Given the description of an element on the screen output the (x, y) to click on. 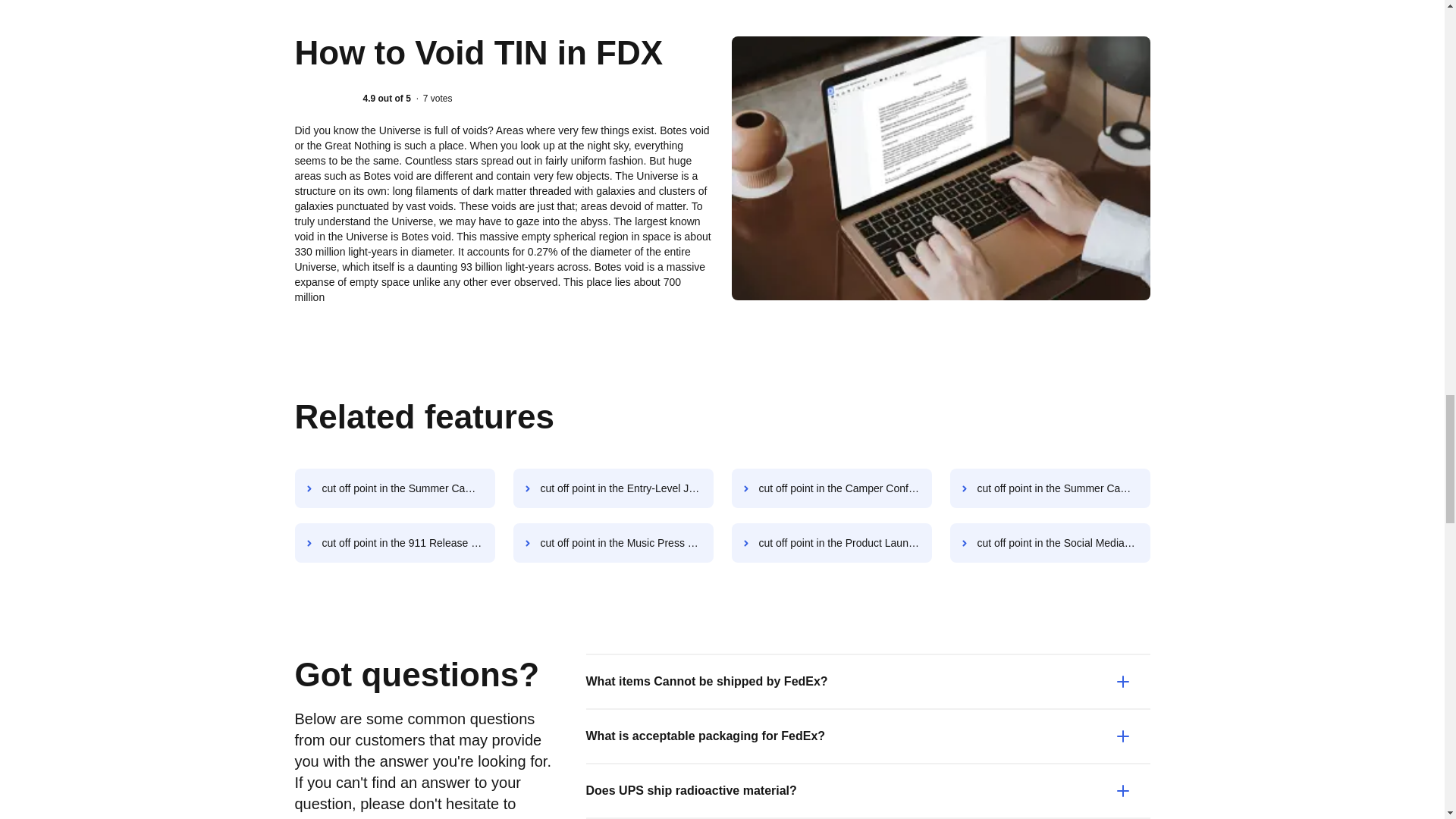
cut off point in the Music Press Release (612, 542)
cut off point in the Social Media Press Release (1049, 542)
cut off point in the Summer Camp Teen Volunteer (394, 487)
cut off point in the Camper Confidential Information (830, 487)
cut off point in the Product Launch Press Release (830, 542)
cut off point in the Summer Camp Physical Form (1049, 487)
cut off point in the Entry-Level Job Application Record (612, 487)
cut off point in the 911 Release Form PDF (394, 542)
